Given the description of an element on the screen output the (x, y) to click on. 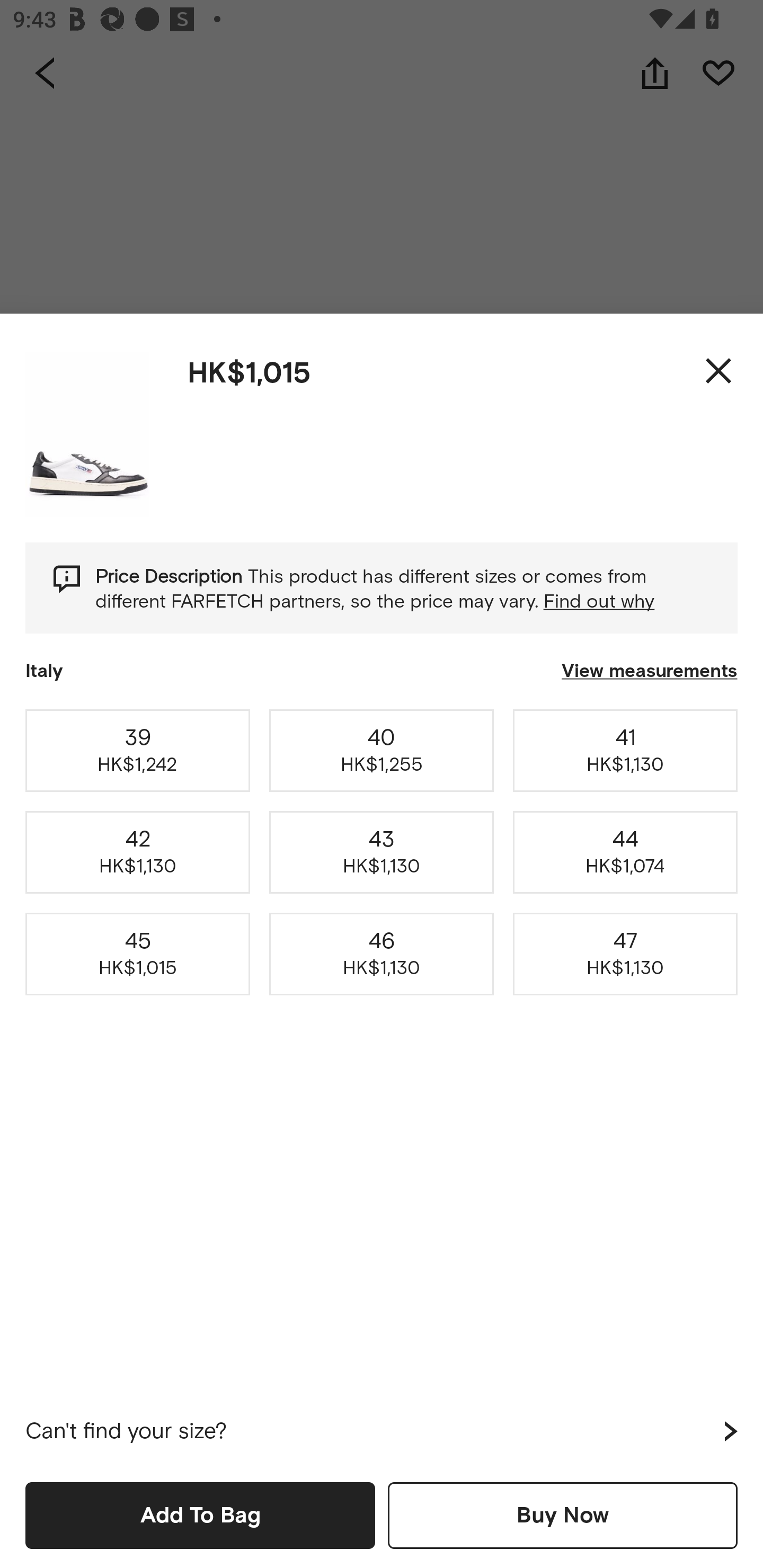
39 HK$1,242 (137, 749)
40 HK$1,255 (381, 749)
41 HK$1,130 (624, 749)
42 HK$1,130 (137, 851)
43 HK$1,130 (381, 851)
44 HK$1,074 (624, 851)
45 HK$1,015 (137, 953)
46 HK$1,130 (381, 953)
47 HK$1,130 (624, 953)
Can't find your size? (381, 1431)
Add To Bag (200, 1515)
Buy Now (562, 1515)
